Given the description of an element on the screen output the (x, y) to click on. 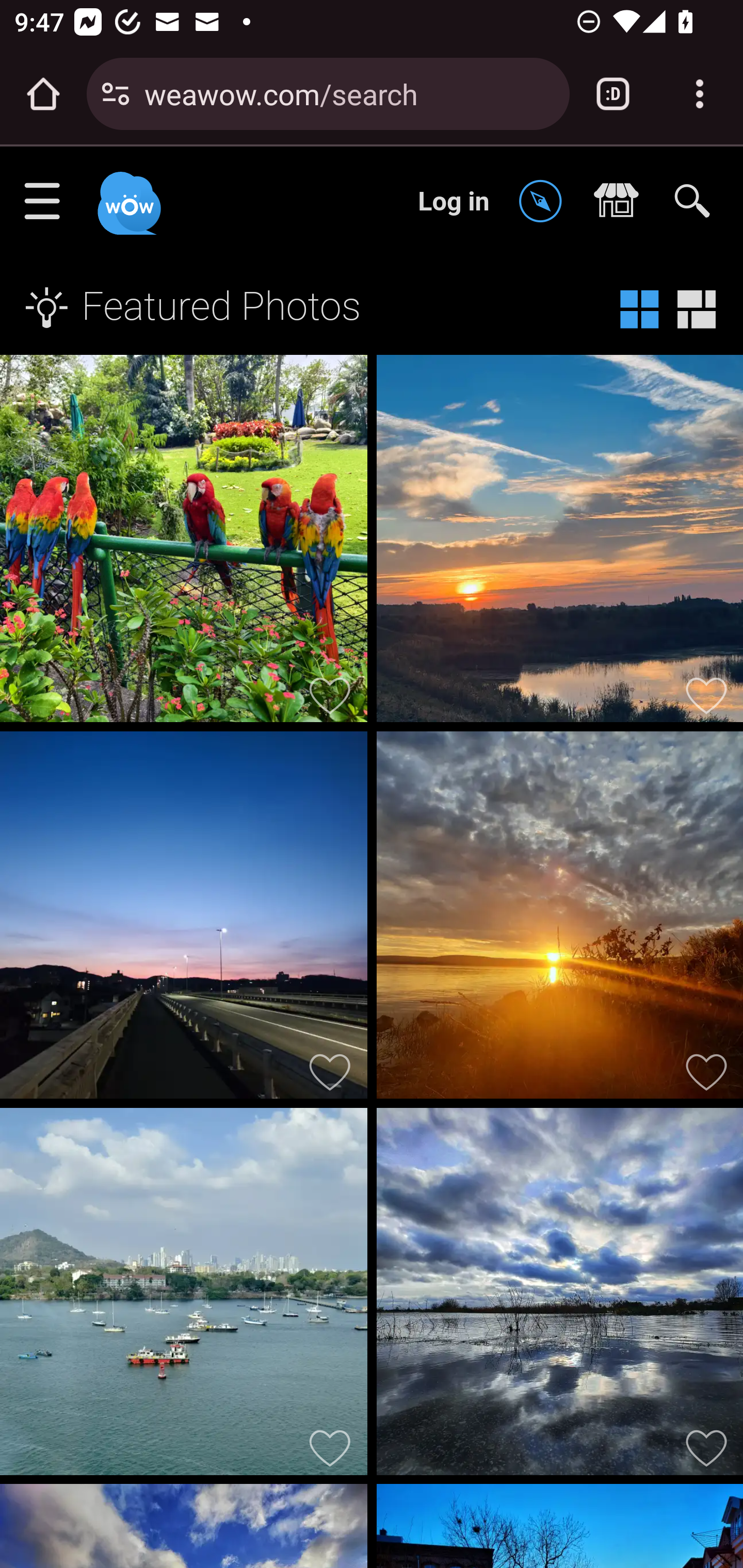
Open the home page (43, 93)
Connection is secure (115, 93)
Switch or close tabs (612, 93)
Customize and control Google Chrome (699, 93)
weawow.com/search (349, 92)
Weawow (127, 194)
 (545, 201)
 (621, 201)
Log in (453, 201)
Weather forecasts with beautiful photos by あさのジジ (184, 918)
Weather forecasts with beautiful photos by Bagi (559, 918)
Weather forecasts with beautiful photos by Arev (559, 1295)
